Given the description of an element on the screen output the (x, y) to click on. 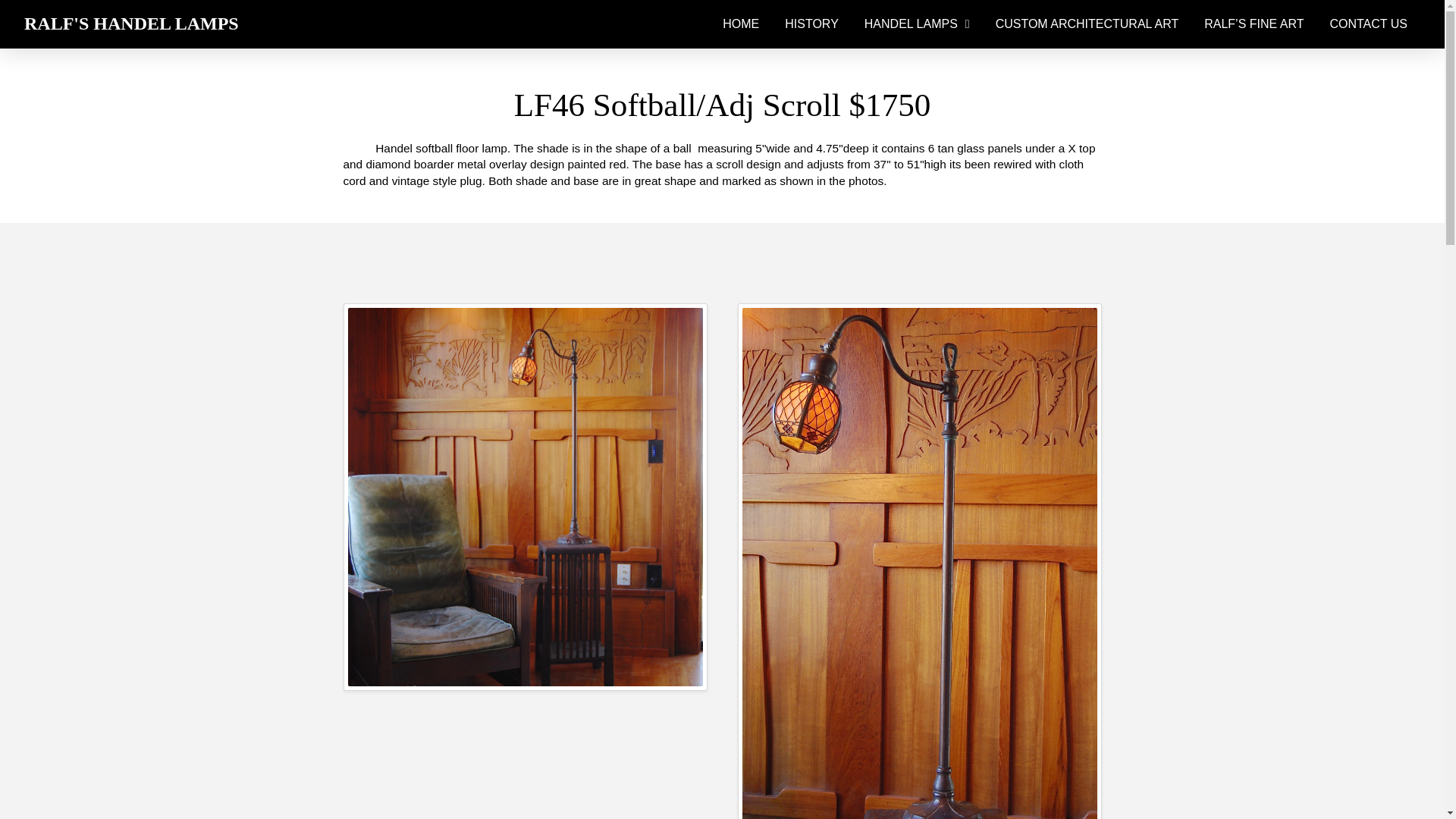
CUSTOM ARCHITECTURAL ART (1087, 24)
CONTACT US (1368, 24)
HOME (740, 24)
HANDEL LAMPS (916, 24)
HISTORY (811, 24)
